Given the description of an element on the screen output the (x, y) to click on. 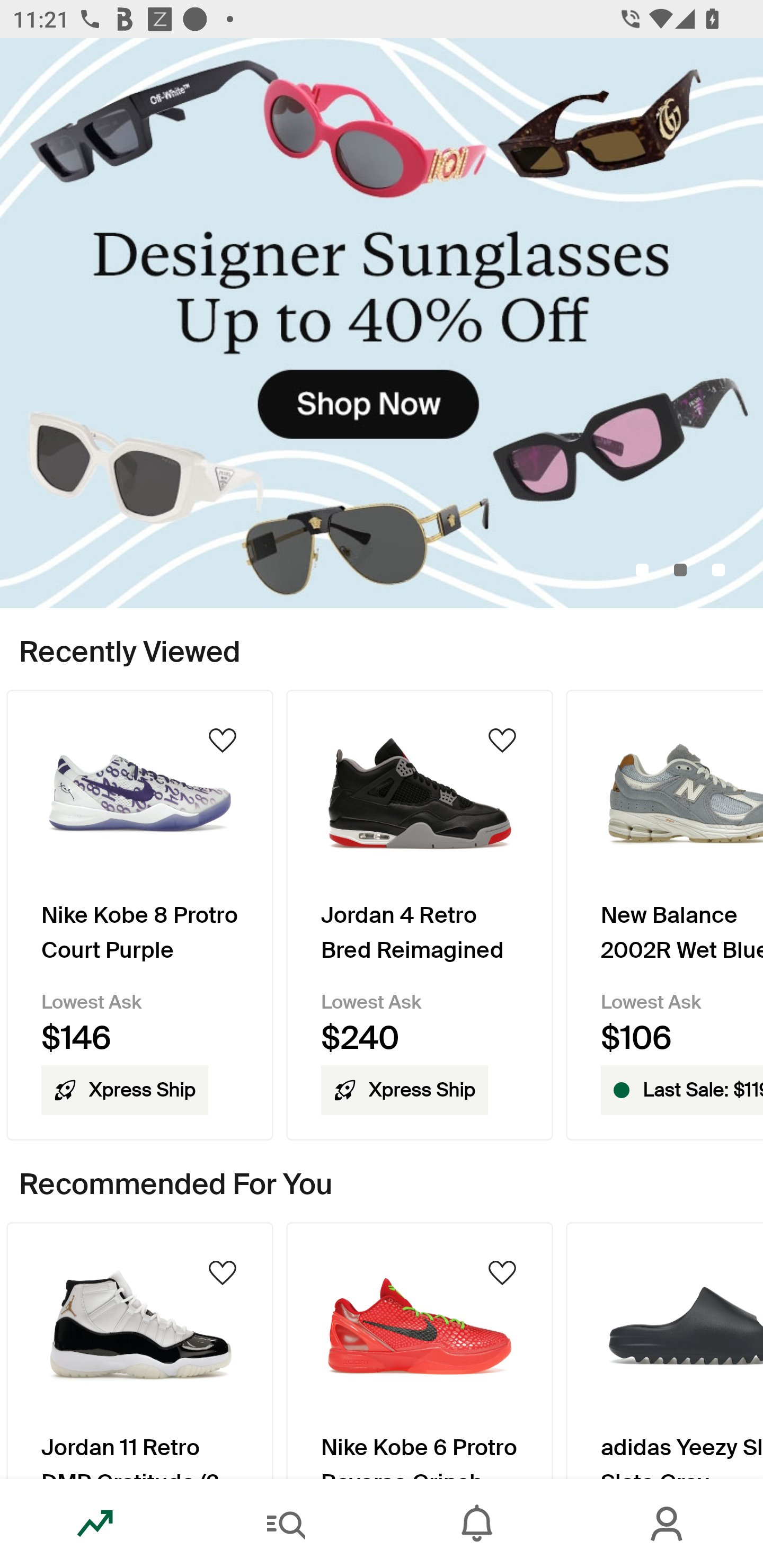
DesignerSunglassesUpto40_Off_Primary_Mobile.jpg (381, 322)
Product Image Jordan 11 Retro DMP Gratitude (2023) (139, 1349)
Product Image Nike Kobe 6 Protro Reverse Grinch (419, 1349)
Product Image adidas Yeezy Slide Slate Grey (664, 1349)
Search (285, 1523)
Inbox (476, 1523)
Account (667, 1523)
